Given the description of an element on the screen output the (x, y) to click on. 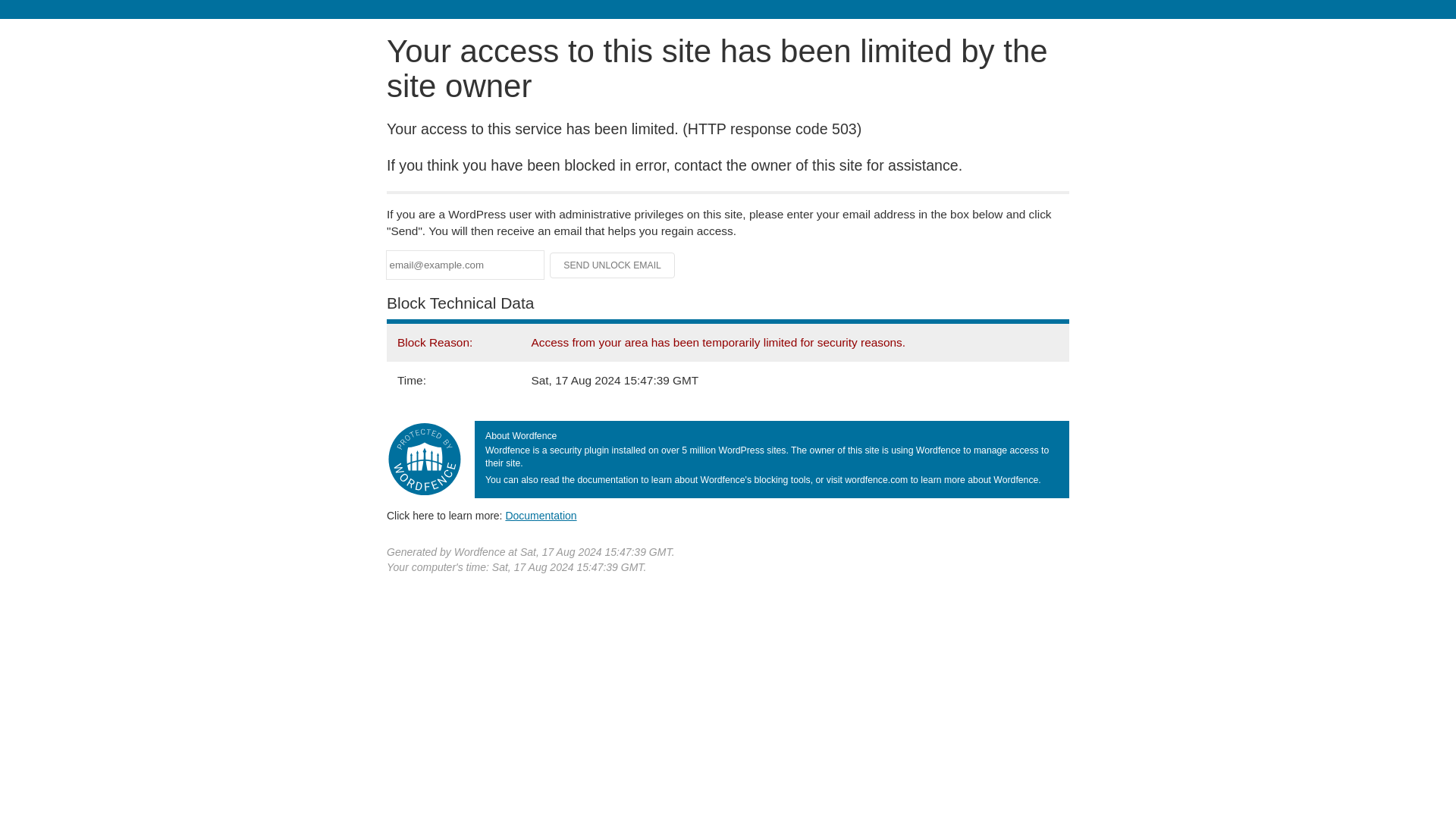
Send Unlock Email (612, 265)
Documentation (540, 515)
Send Unlock Email (612, 265)
